Given the description of an element on the screen output the (x, y) to click on. 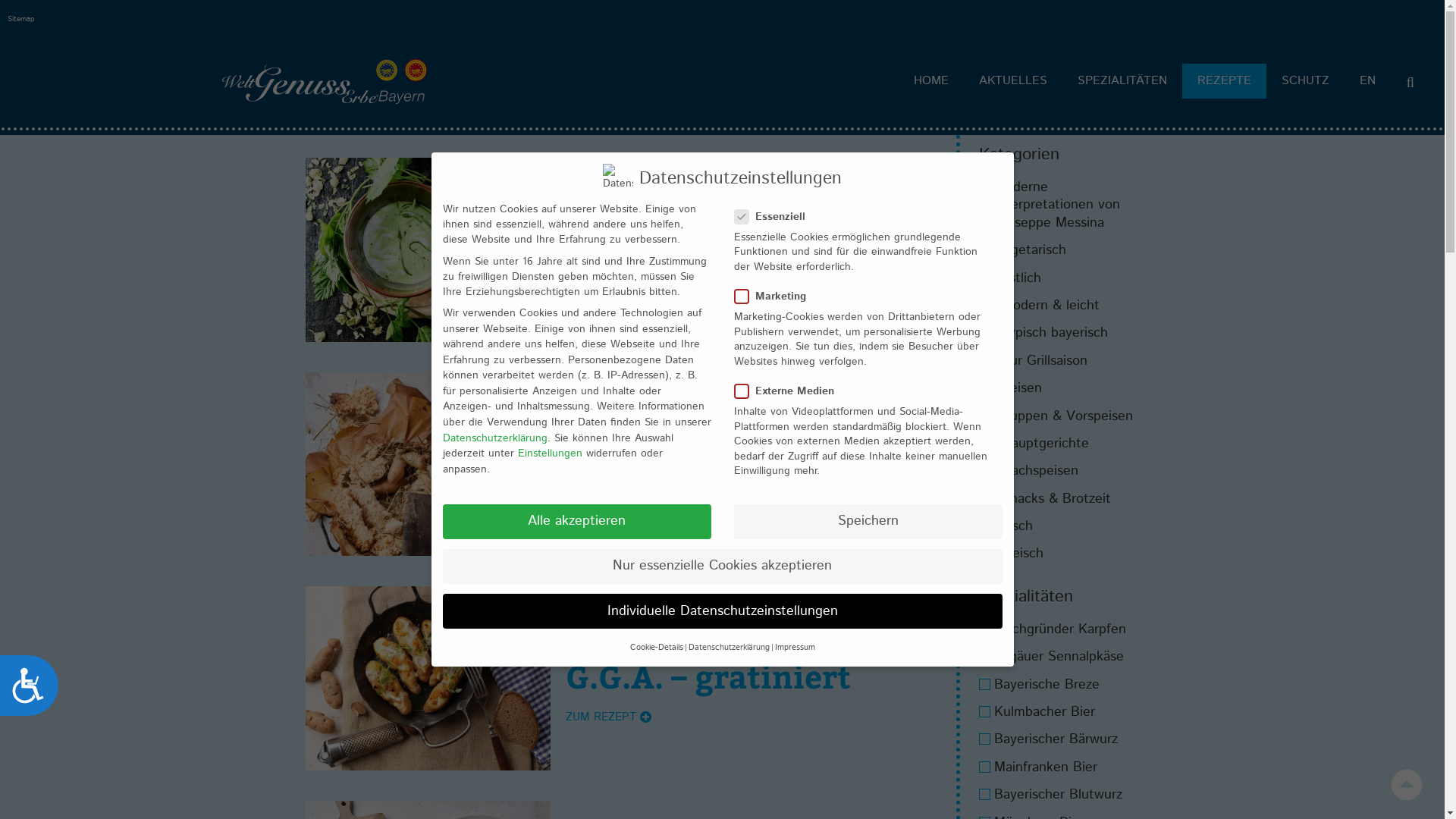
Nur essenzielle Cookies akzeptieren Element type: text (722, 566)
Cookie-Details Element type: text (655, 647)
WGE_Bam_Hoernla_grat_Kartoffel_7904_k_rgb Element type: hover (426, 678)
Individuelle Datenschutzeinstellungen Element type: text (722, 610)
HOME Element type: text (930, 80)
Alle akzeptieren Element type: text (576, 521)
SCHUTZ Element type: text (1305, 80)
Zug&auml;nglichkeit Element type: text (29, 685)
AKTUELLES Element type: text (1012, 80)
ZUM REZEPT Element type: text (608, 717)
Sitemap Element type: text (20, 18)
Impressum Element type: text (795, 647)
Einstellungen Element type: text (549, 453)
REZEPTE Element type: text (1224, 80)
Speichern Element type: text (868, 521)
WGE_Hopfensuppe_11773_k_rgb Element type: hover (426, 249)
ZUM REZEPT Element type: text (608, 319)
ZUM REZEPT Element type: text (608, 518)
EN Element type: text (1367, 80)
WGE_Bam_Hoernla_in_Salzkruste_7901_k_rgb Element type: hover (426, 464)
